Given the description of an element on the screen output the (x, y) to click on. 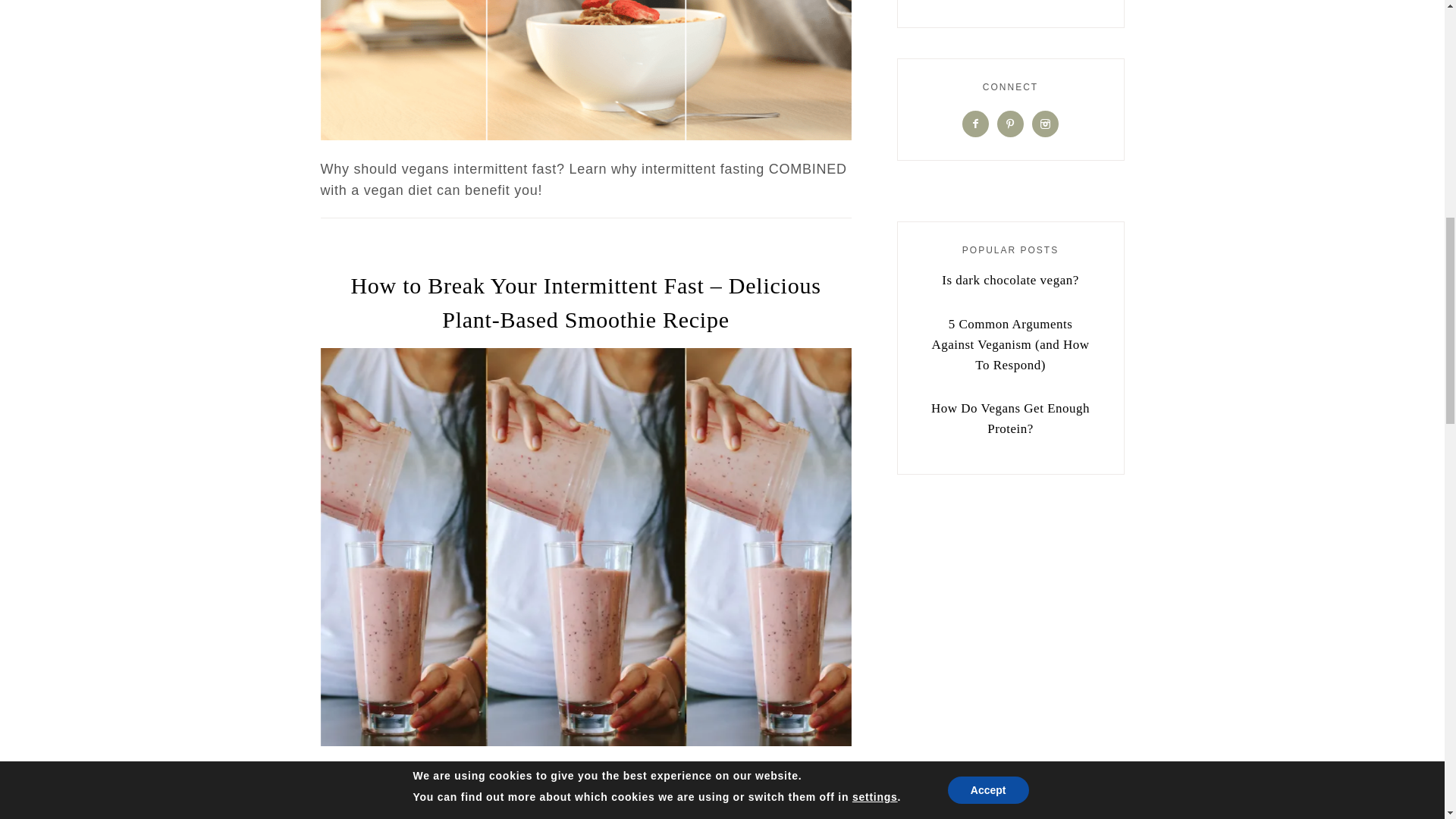
Pinterest (1010, 123)
Facebook (975, 123)
Is dark chocolate vegan? (1010, 279)
Instagram (1045, 123)
How Do Vegans Get Enough Protein? (1010, 418)
